Given the description of an element on the screen output the (x, y) to click on. 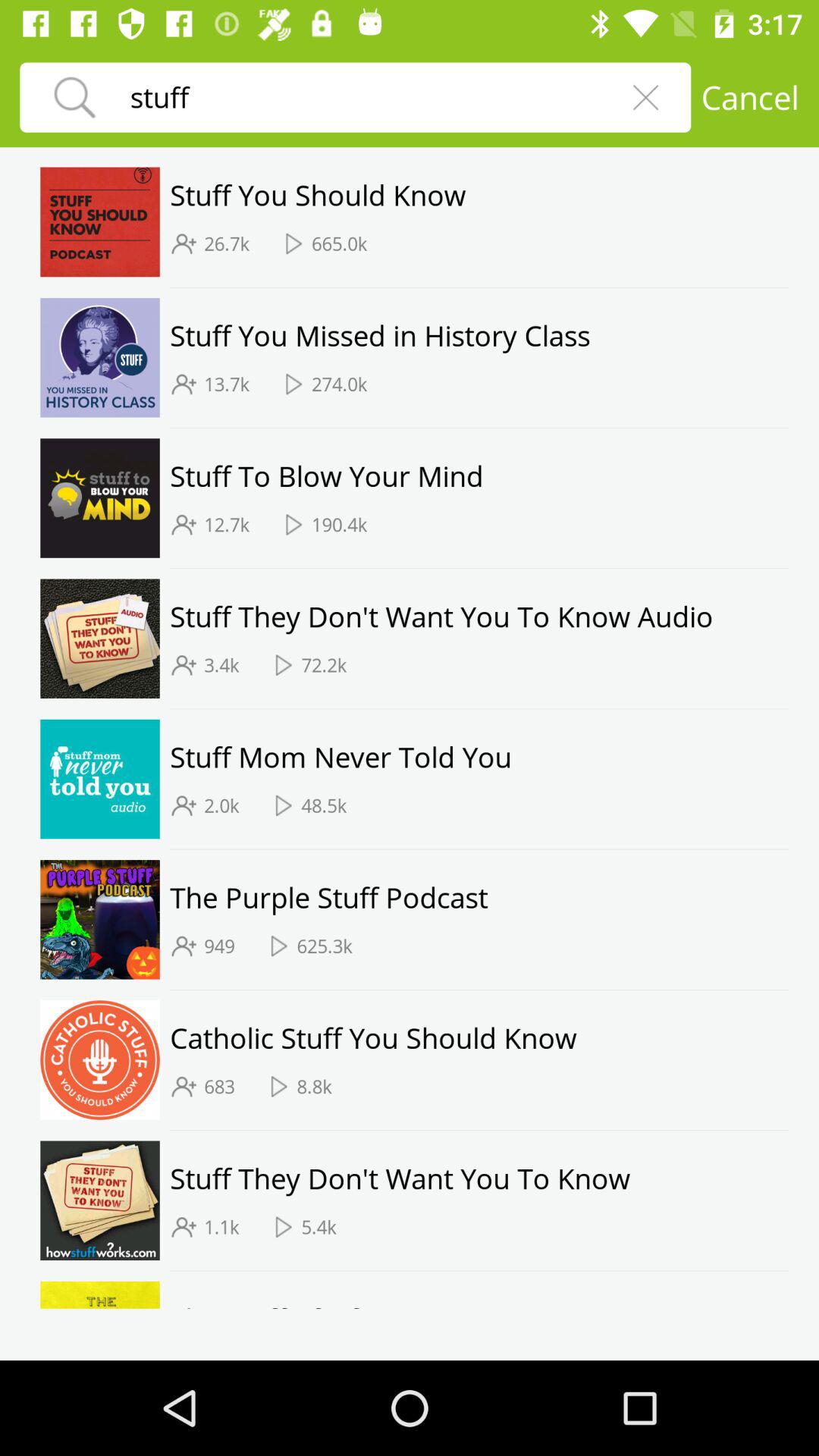
flip until cancel (750, 97)
